Given the description of an element on the screen output the (x, y) to click on. 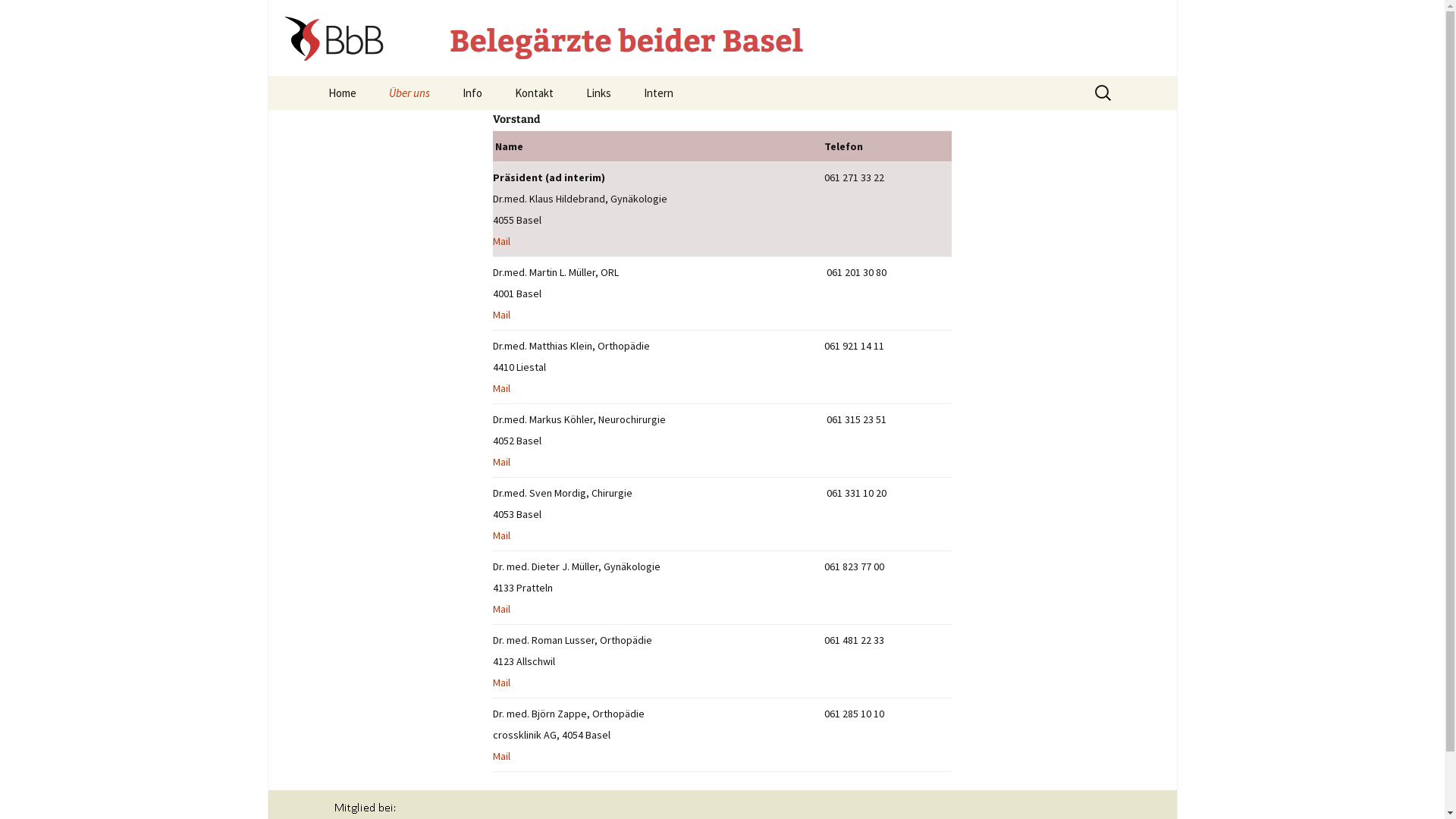
Die BbB Element type: text (448, 126)
Home Element type: text (341, 92)
Mail Element type: text (501, 535)
Mail Element type: text (501, 608)
Mail Element type: text (501, 755)
Suche Element type: text (18, 16)
Kontakt Element type: text (532, 92)
Downloads Element type: text (523, 126)
Mail Element type: text (501, 682)
Zum Inhalt springen Element type: text (312, 75)
Mail Element type: text (501, 461)
Intern Element type: text (657, 92)
Mail Element type: text (501, 240)
Dokumente Element type: text (703, 126)
Mail Element type: text (501, 388)
Mail Element type: text (501, 314)
Info Element type: text (472, 92)
Links Element type: text (597, 92)
